Given the description of an element on the screen output the (x, y) to click on. 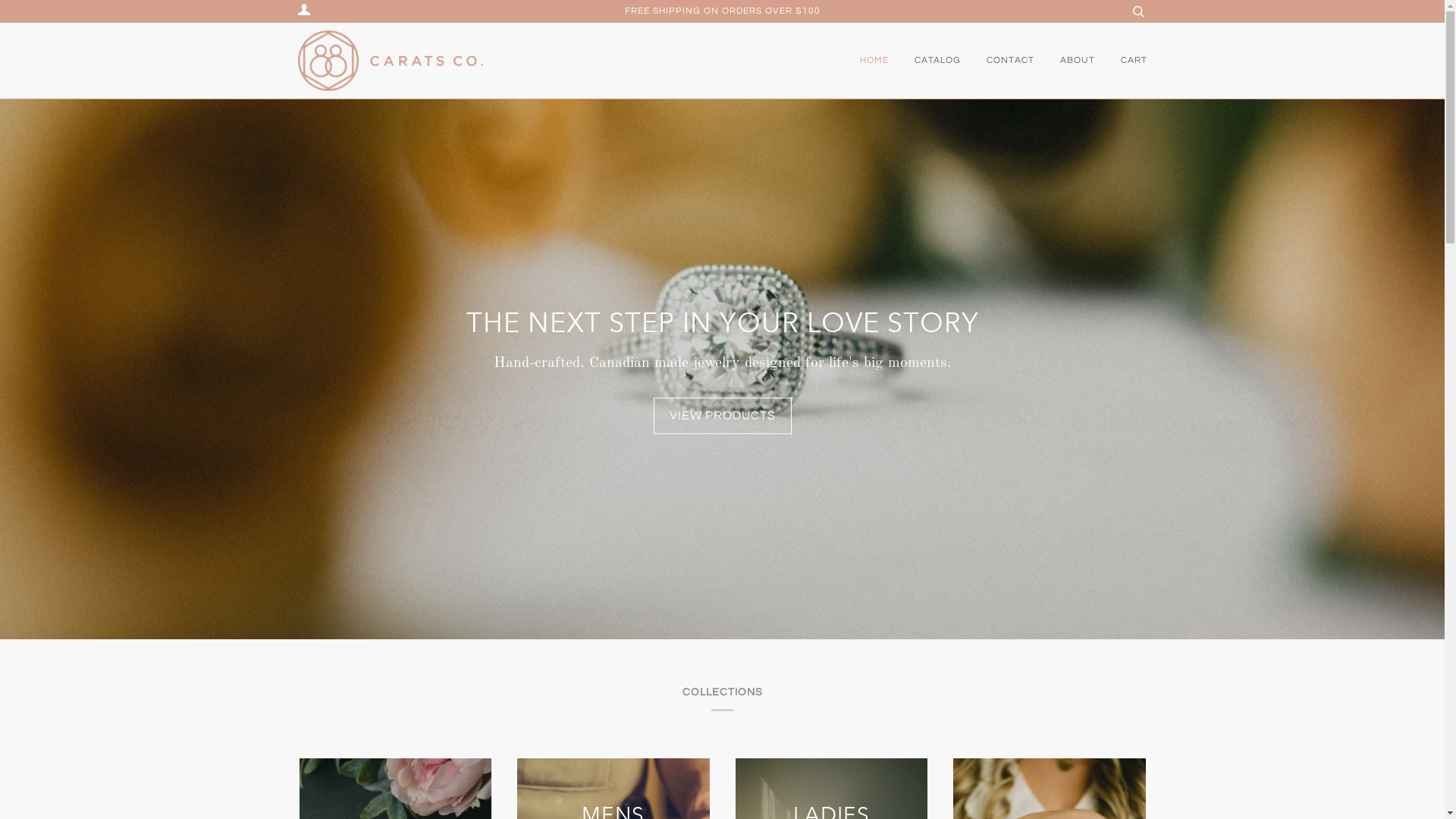
ABOUT Element type: text (1077, 60)
HOME Element type: text (873, 60)
CONTACT Element type: text (1009, 60)
CATALOG Element type: text (937, 60)
CART Element type: text (1133, 60)
VIEW PRODUCTS Element type: text (722, 415)
